Given the description of an element on the screen output the (x, y) to click on. 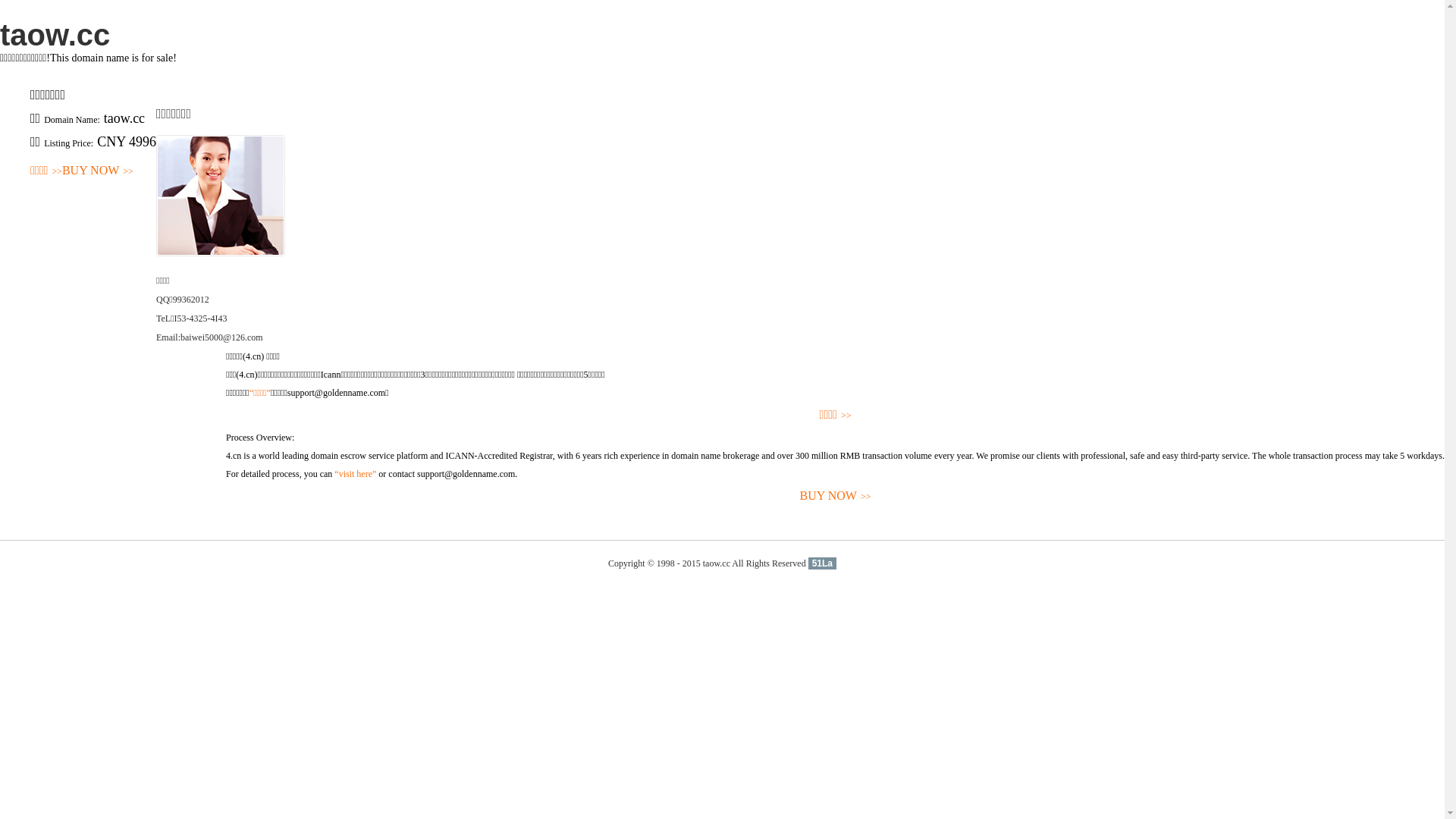
BUY NOW>> Element type: text (97, 170)
BUY NOW>> Element type: text (834, 496)
51La Element type: text (822, 563)
